Given the description of an element on the screen output the (x, y) to click on. 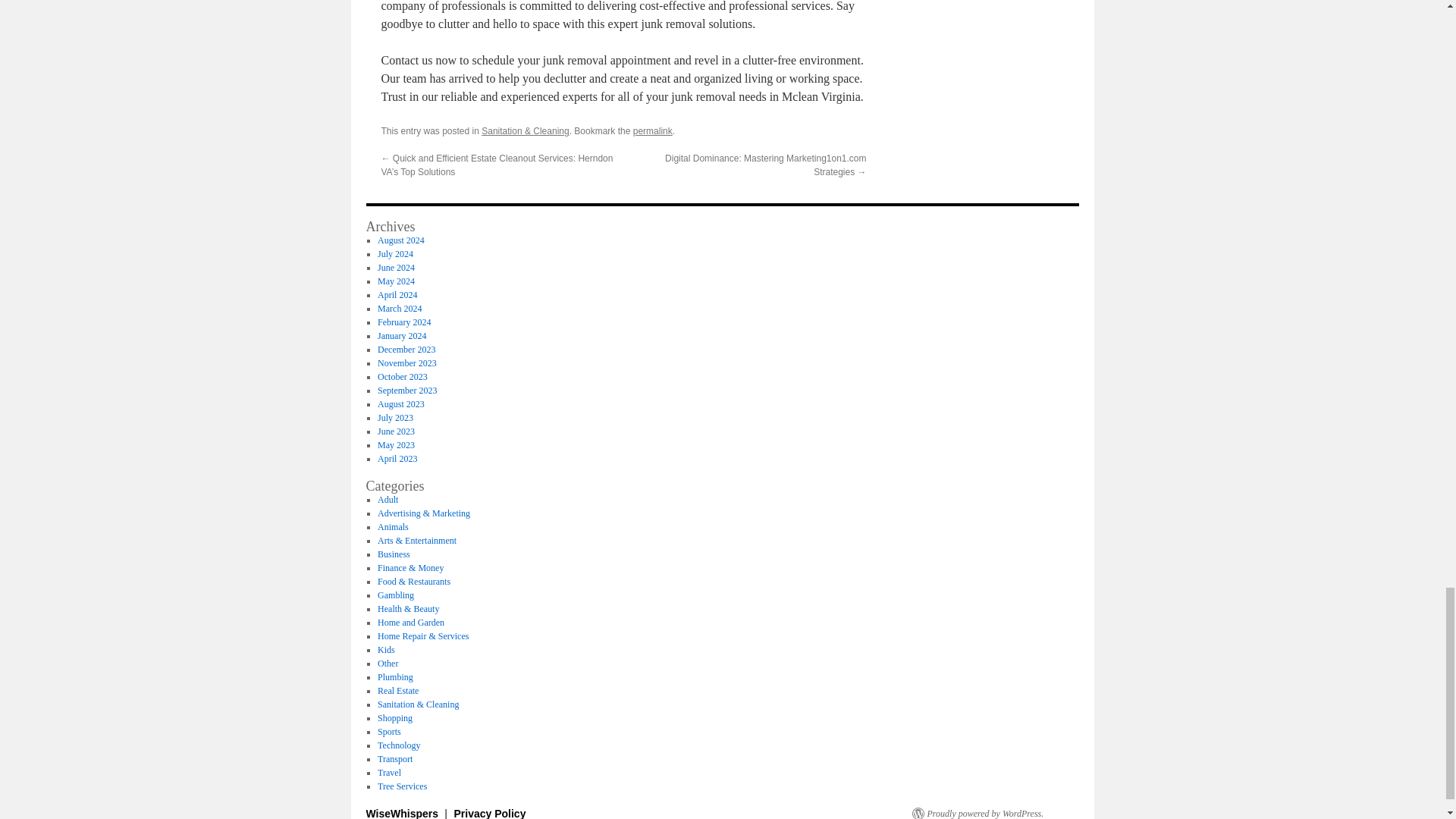
April 2023 (396, 458)
May 2023 (395, 444)
November 2023 (406, 362)
March 2024 (399, 308)
October 2023 (402, 376)
Permalink to The Ultimate Mclean VA Junk Disposal Guide (652, 131)
May 2024 (395, 281)
February 2024 (403, 321)
August 2024 (401, 240)
Animals (393, 526)
